Given the description of an element on the screen output the (x, y) to click on. 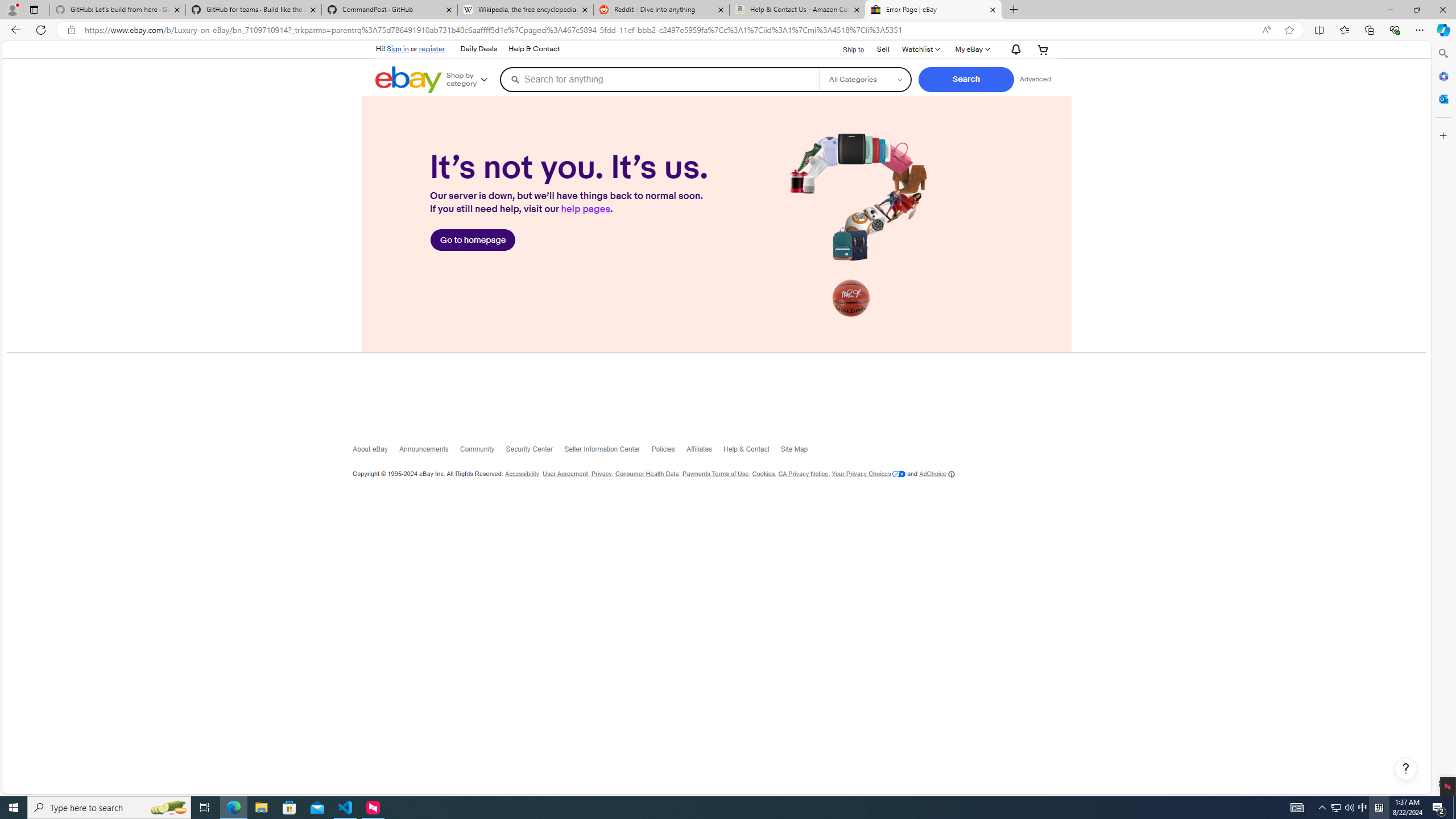
Reddit - Dive into anything (660, 9)
Policies (667, 451)
Wikipedia, the free encyclopedia (525, 9)
Advanced Search (1035, 78)
Accessibility (520, 473)
Search for anything (659, 78)
Expand Cart (1042, 49)
About eBay (376, 451)
My eBay (972, 49)
Daily Deals (478, 49)
Privacy (601, 473)
